Given the description of an element on the screen output the (x, y) to click on. 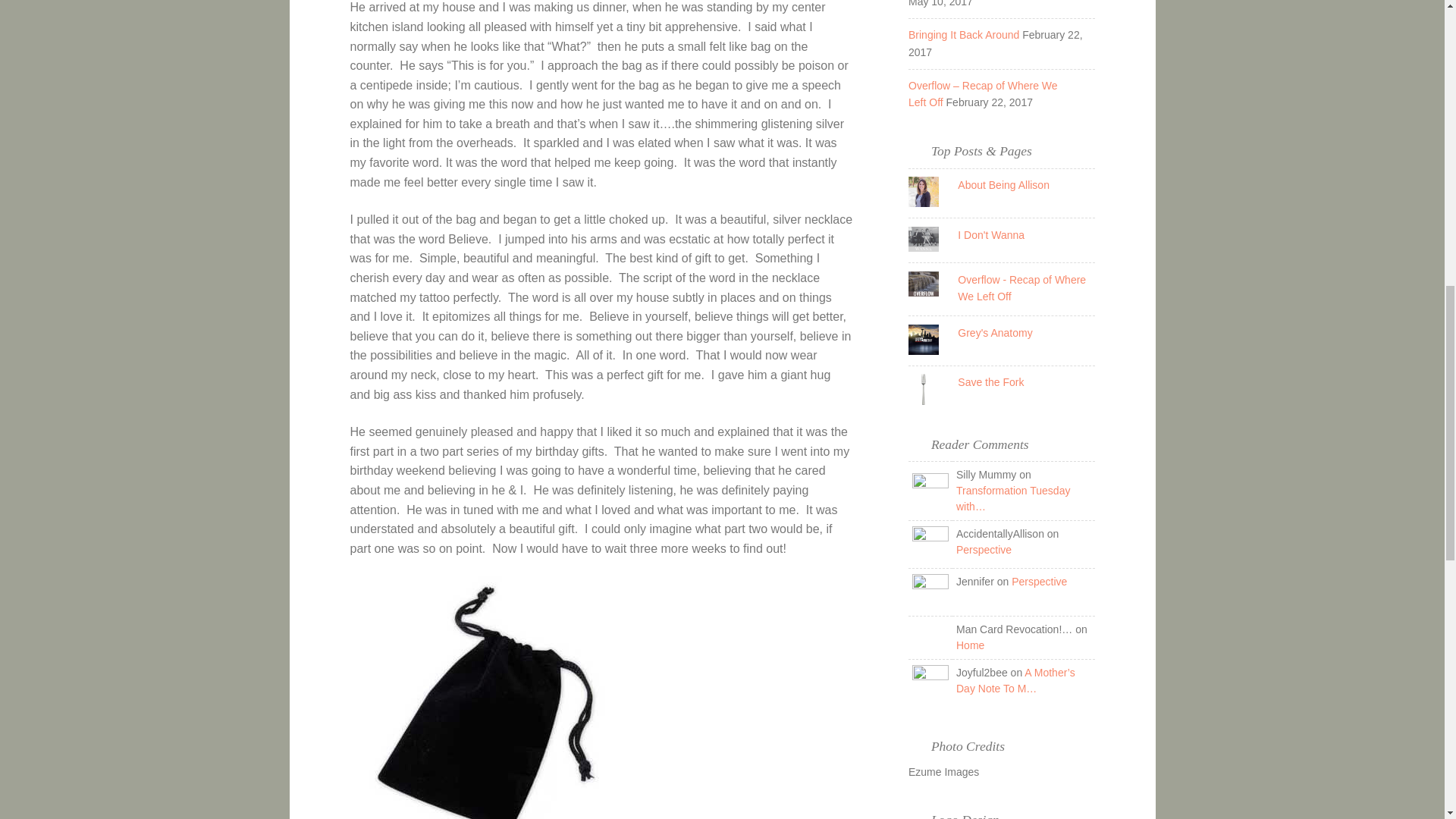
I Don't Wanna (991, 234)
Overflow - Recap of Where We Left Off (1022, 287)
About Being Allison (1003, 184)
Jennifer (930, 592)
AccidentallyAllison (930, 544)
Grey's Anatomy (995, 332)
Bringing It Back Around (963, 34)
Save the Fork (990, 381)
